Given the description of an element on the screen output the (x, y) to click on. 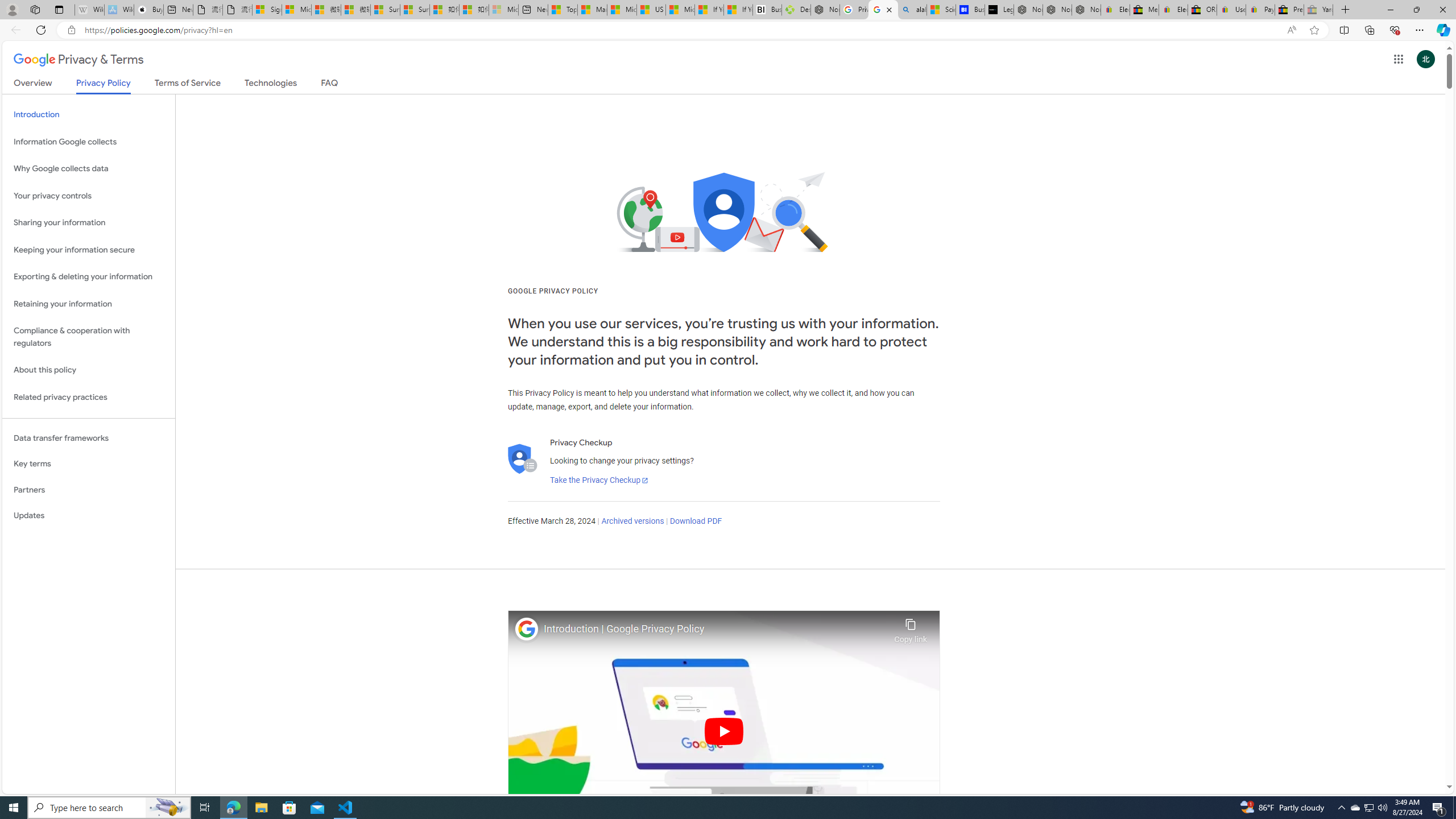
Terms of Service (187, 84)
Related privacy practices (88, 397)
Top Stories - MSN (562, 9)
Partners (88, 489)
Buy iPad - Apple (148, 9)
Updates (88, 515)
Press Room - eBay Inc. (1288, 9)
Keeping your information secure (88, 249)
Payments Terms of Use | eBay.com (1259, 9)
